Given the description of an element on the screen output the (x, y) to click on. 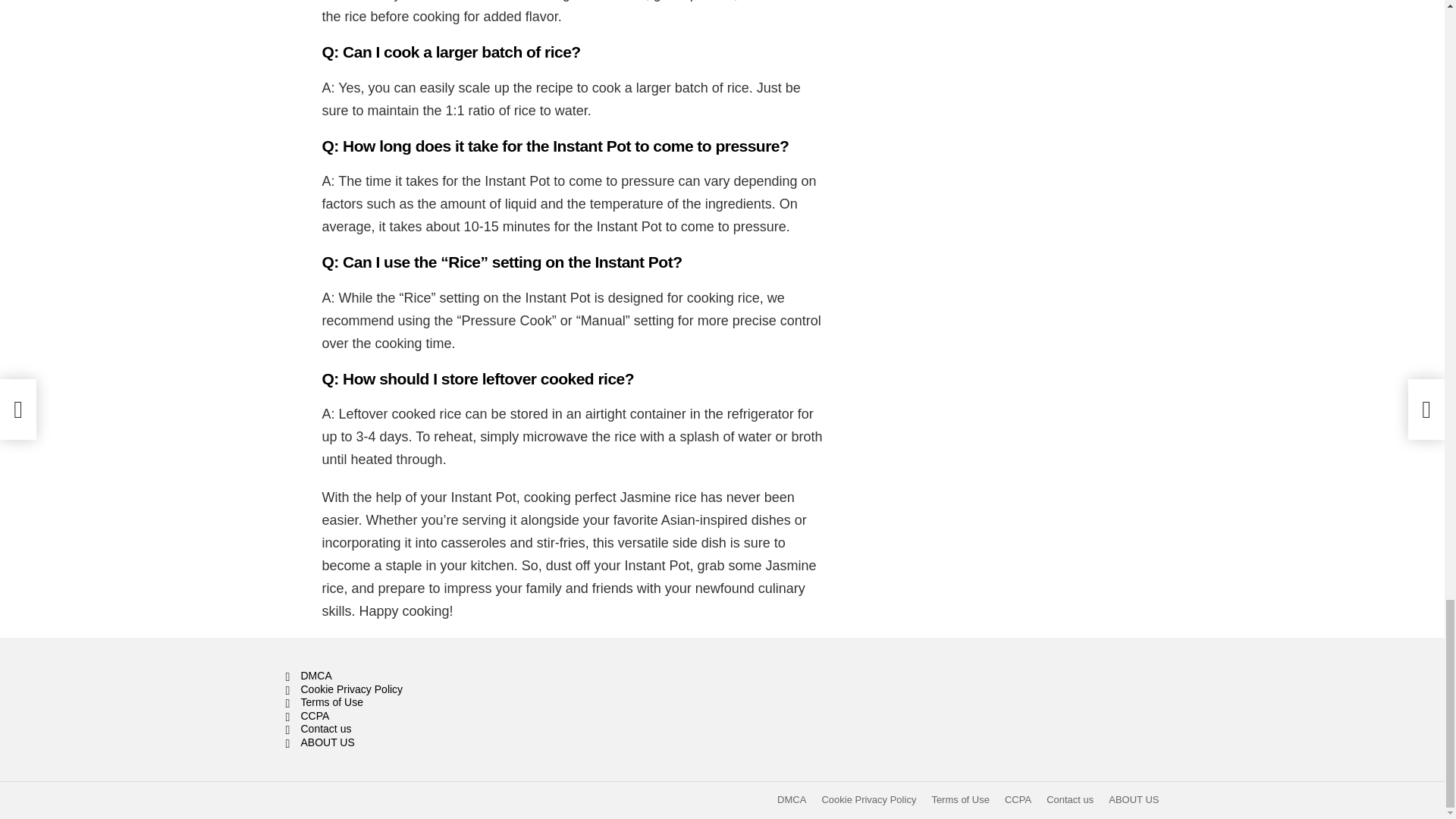
CCPA (422, 716)
ABOUT US (422, 743)
Terms of Use (422, 703)
Terms of Use (960, 799)
DMCA (791, 799)
Cookie Privacy Policy (868, 799)
Cookie Privacy Policy (422, 689)
ABOUT US (1133, 799)
Contact us (422, 729)
Contact us (1069, 799)
DMCA (422, 676)
CCPA (1018, 799)
